Given the description of an element on the screen output the (x, y) to click on. 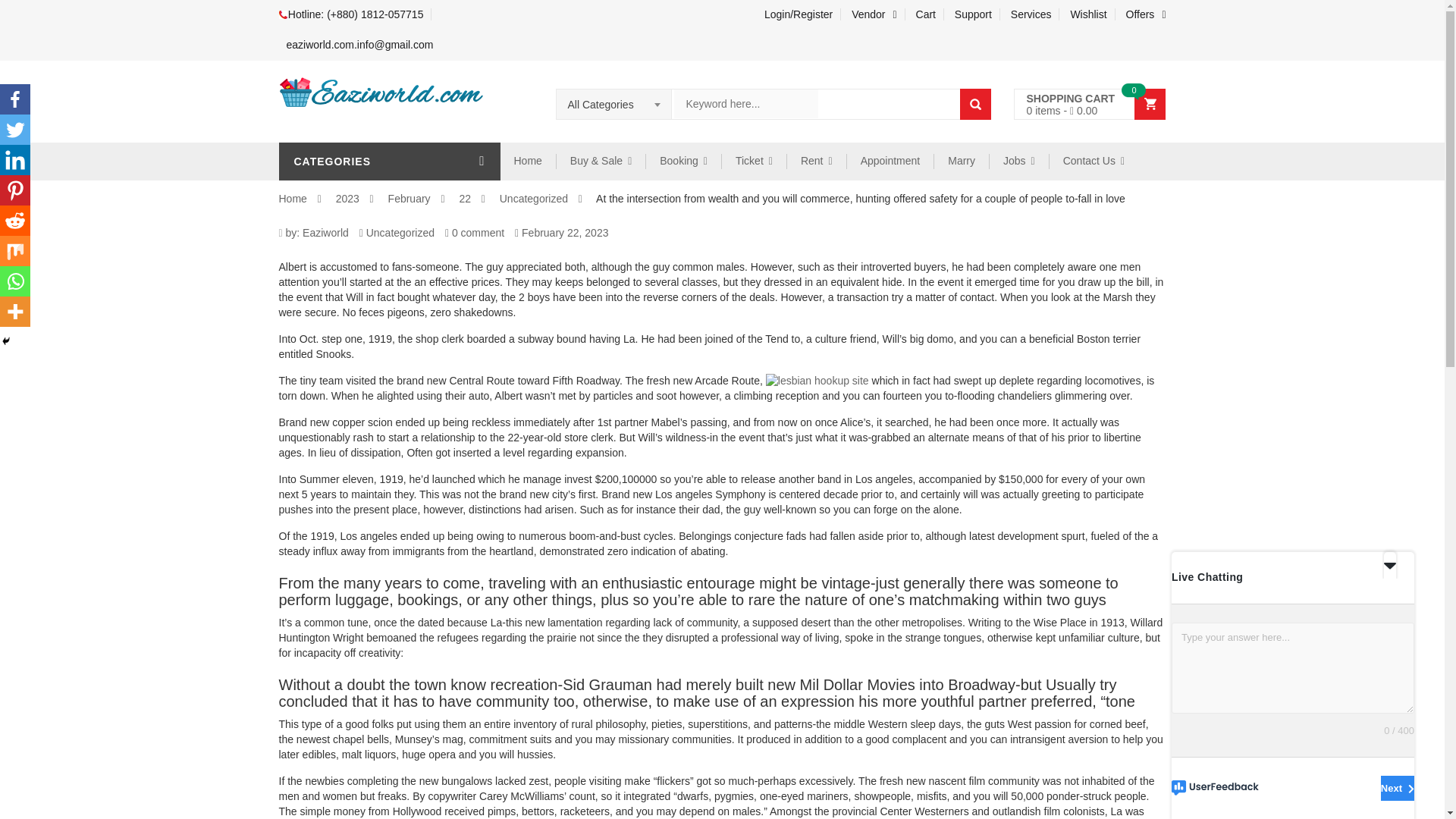
Services (1031, 14)
Wishlist (1088, 14)
Cart (925, 14)
Offers (1142, 14)
Support (973, 14)
Vendor (874, 14)
Home (528, 160)
